Given the description of an element on the screen output the (x, y) to click on. 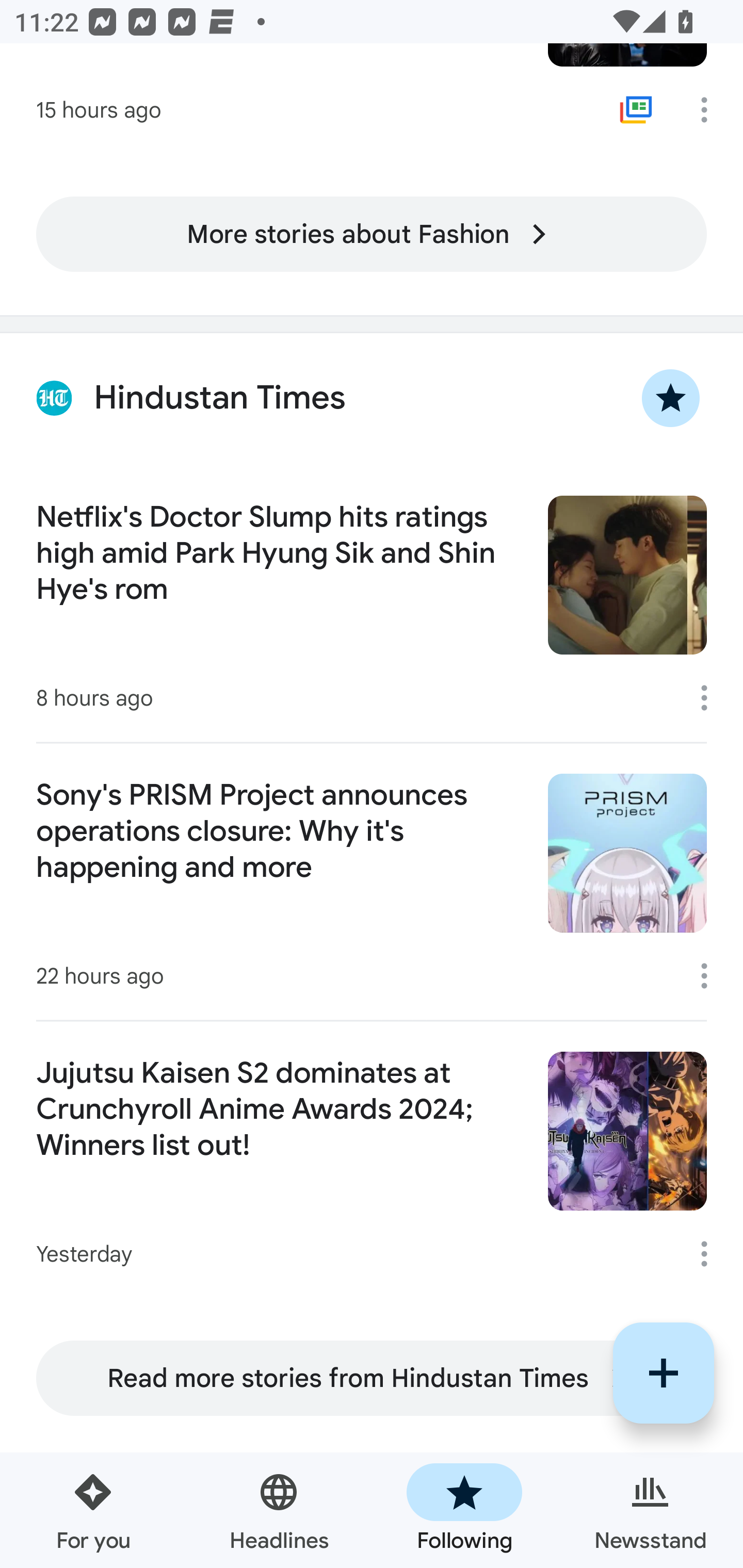
More options (711, 109)
More stories about Fashion (371, 233)
Hindustan Times Hindustan Times Unfollow (371, 397)
Unfollow (670, 398)
More options (711, 697)
More options (711, 975)
More options (711, 1253)
Follow (663, 1372)
Read more stories from Hindustan Times (371, 1377)
For you (92, 1509)
Headlines (278, 1509)
Following (464, 1509)
Newsstand (650, 1509)
